Given the description of an element on the screen output the (x, y) to click on. 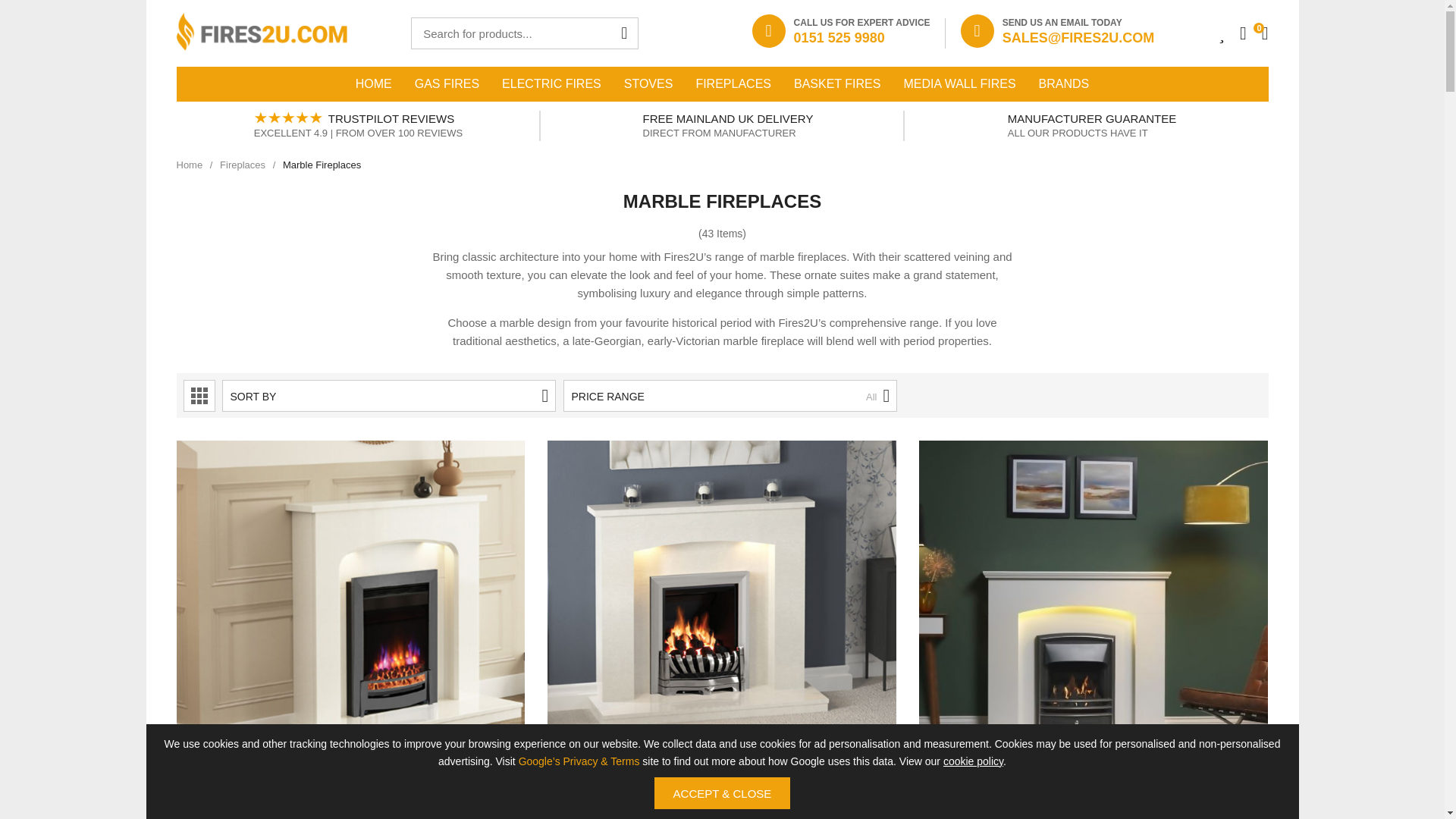
Be Modern Tasmin Marble Fireplace Suite (350, 614)
GAS FIRES (446, 83)
cookie policy (973, 761)
Be Modern Isabelle Marble Fireplace Suite (721, 614)
ELECTRIC FIRES (551, 83)
Go to homepage (261, 33)
FIRES2U (261, 33)
HOME (373, 83)
Be Modern Isabelle Marble Fireplace Suite (721, 804)
Be Modern Tasmin Marble Fireplace Suite (349, 804)
STOVES (648, 83)
0151 525 9980 (861, 38)
